Given the description of an element on the screen output the (x, y) to click on. 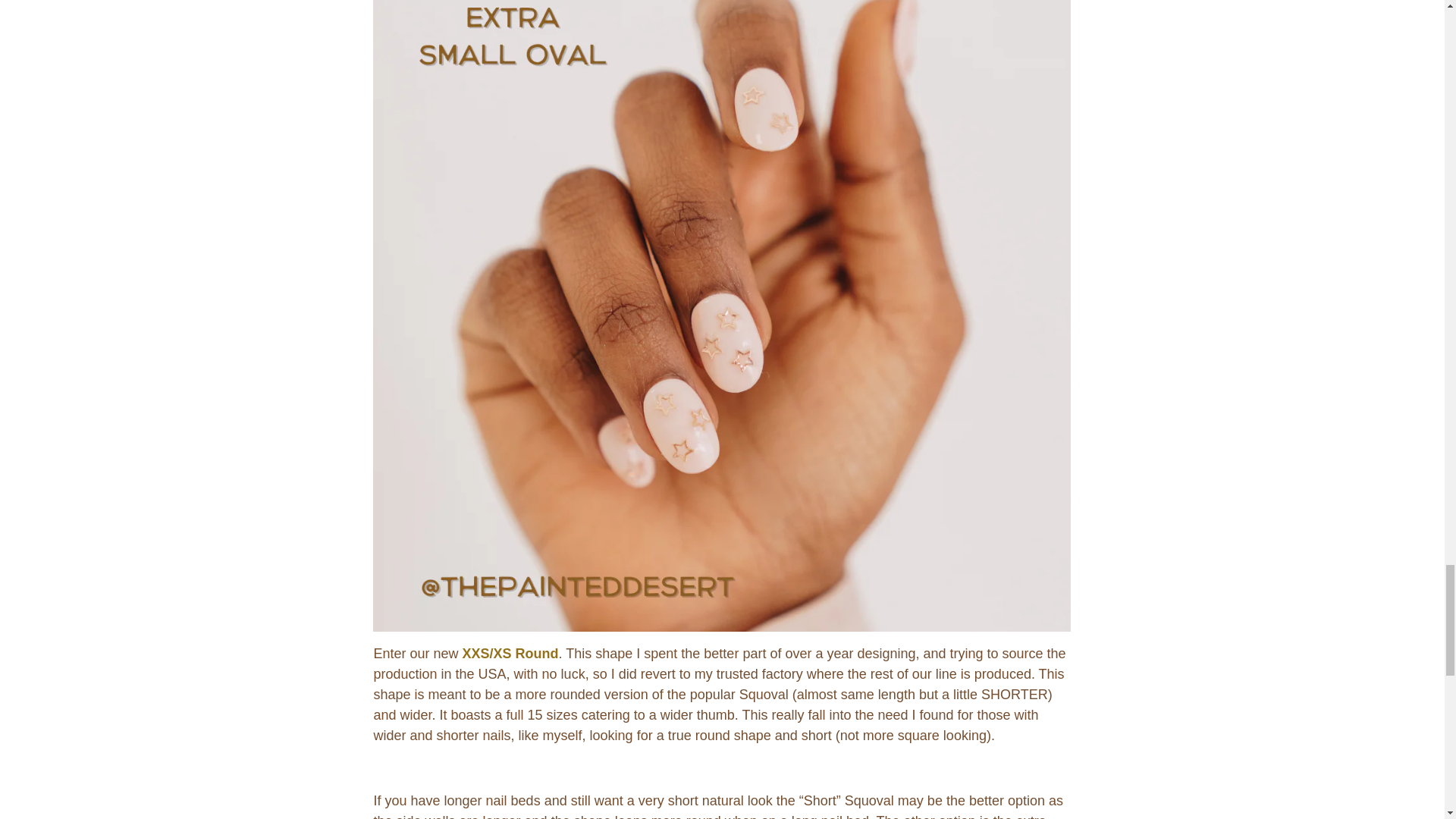
XXS Round Full Cover Gel Nail Tip (511, 653)
